Given the description of an element on the screen output the (x, y) to click on. 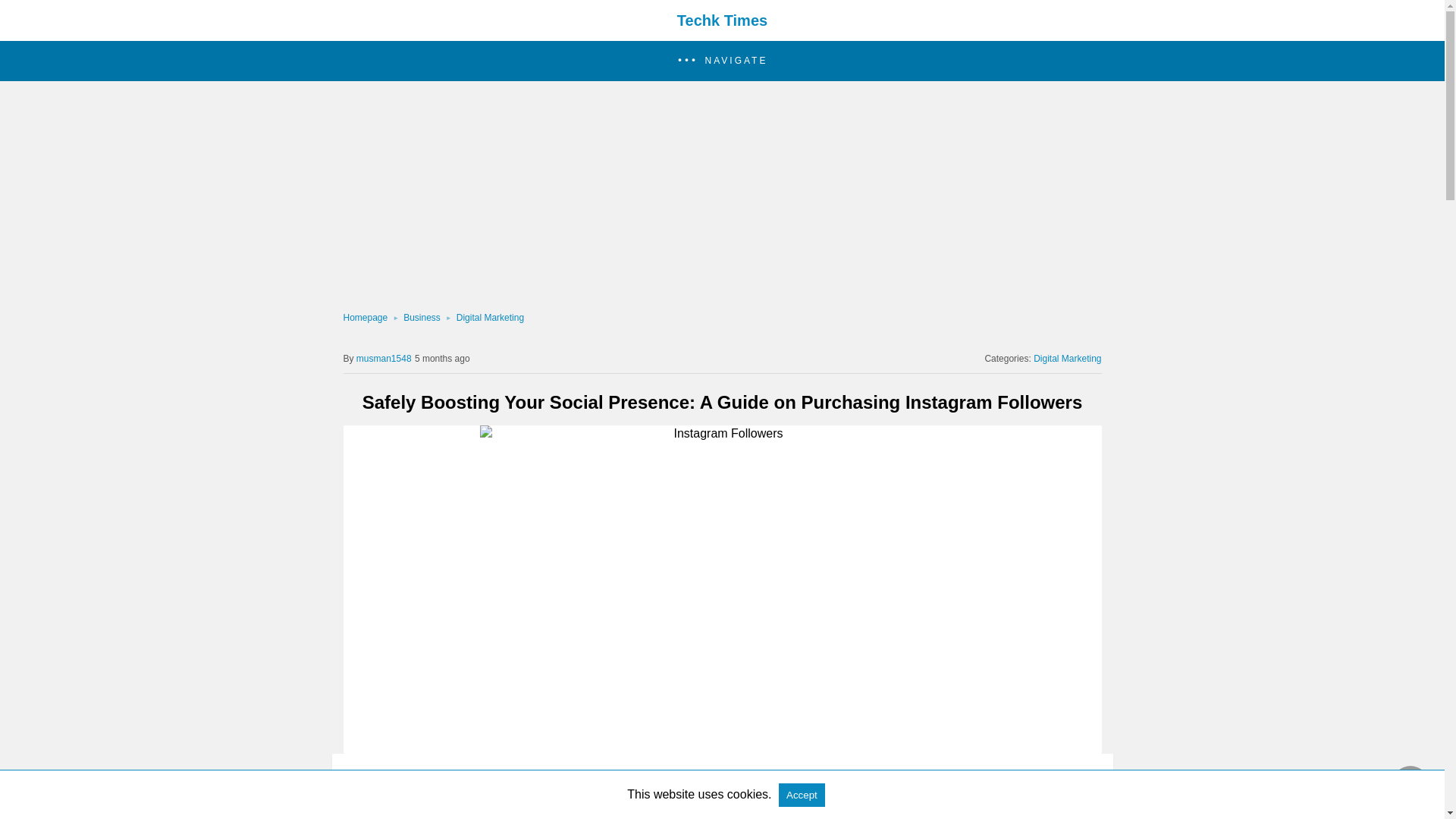
Business (430, 317)
Homepage (372, 317)
back to top (1410, 784)
Digital Marketing (1066, 357)
Homepage (372, 317)
Business (430, 317)
Accept (801, 794)
Digital Marketing (490, 317)
Digital Marketing (490, 317)
Techk Times (722, 20)
